Given the description of an element on the screen output the (x, y) to click on. 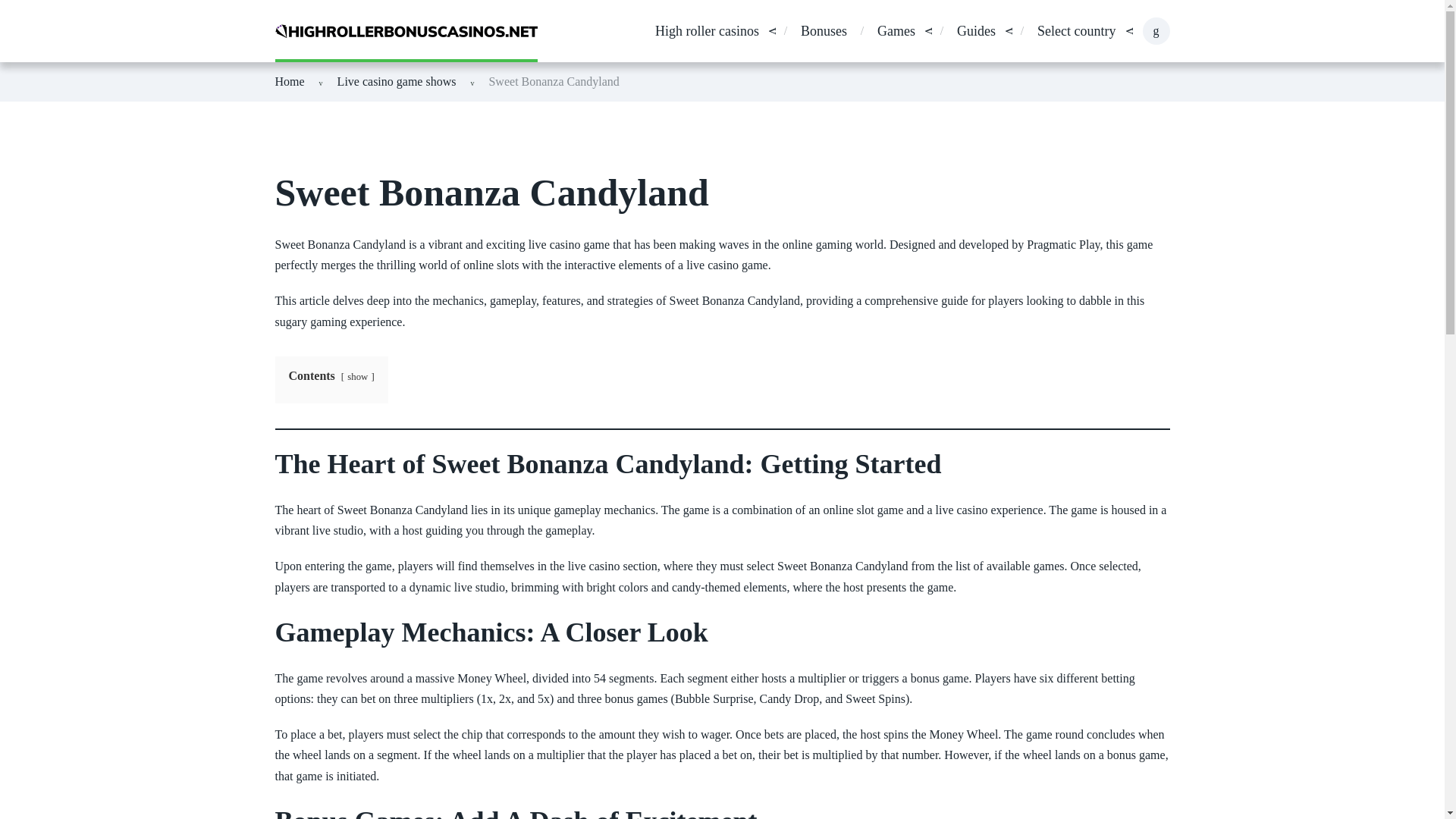
Select country (1075, 31)
High roller games (896, 31)
Guides (975, 31)
High roller casino bonus offers (823, 31)
Bonuses (823, 31)
High roller bonus casinos (706, 31)
High roller casinos (706, 31)
Games (896, 31)
